Given the description of an element on the screen output the (x, y) to click on. 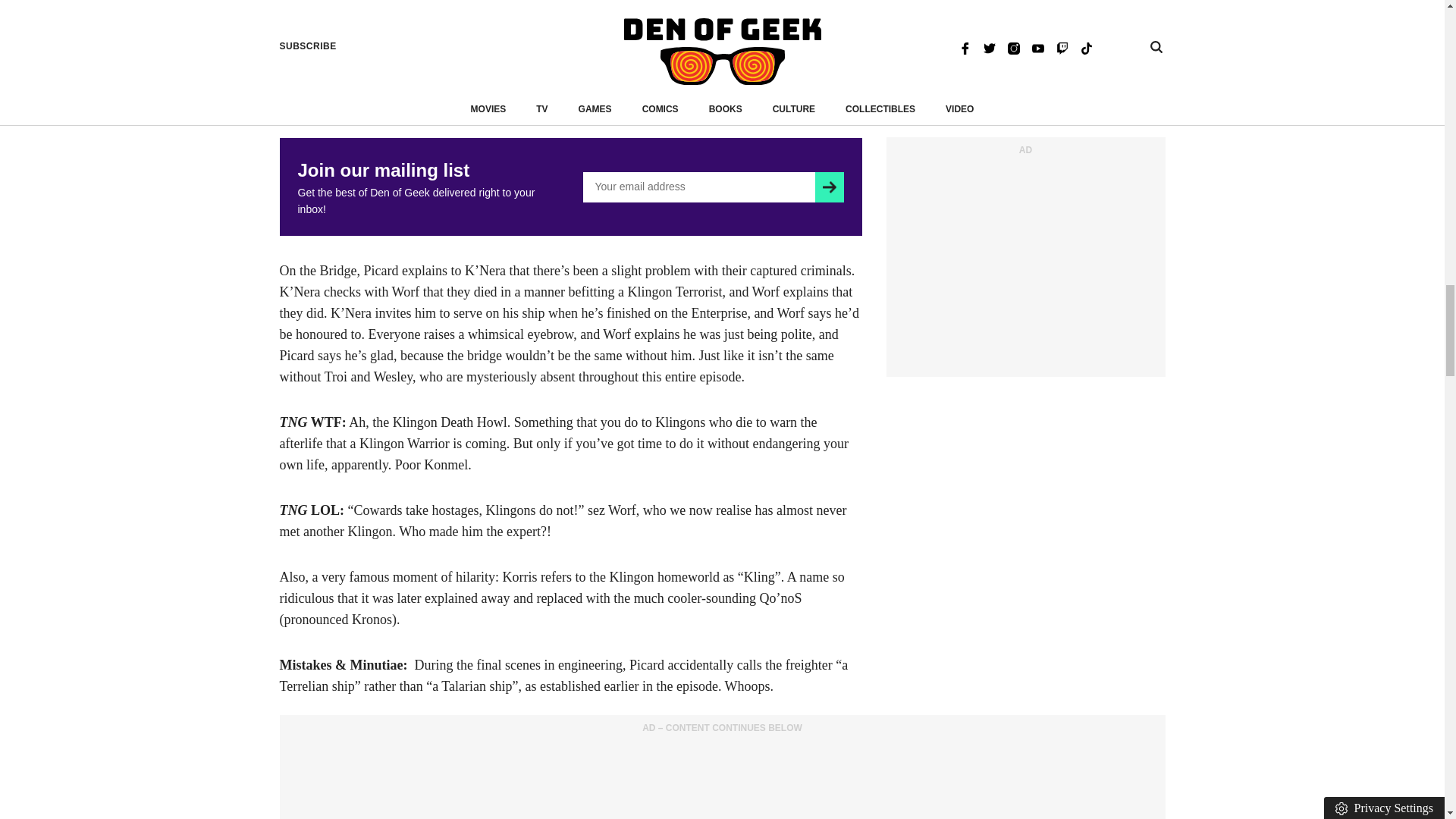
Subscribe (829, 186)
